Given the description of an element on the screen output the (x, y) to click on. 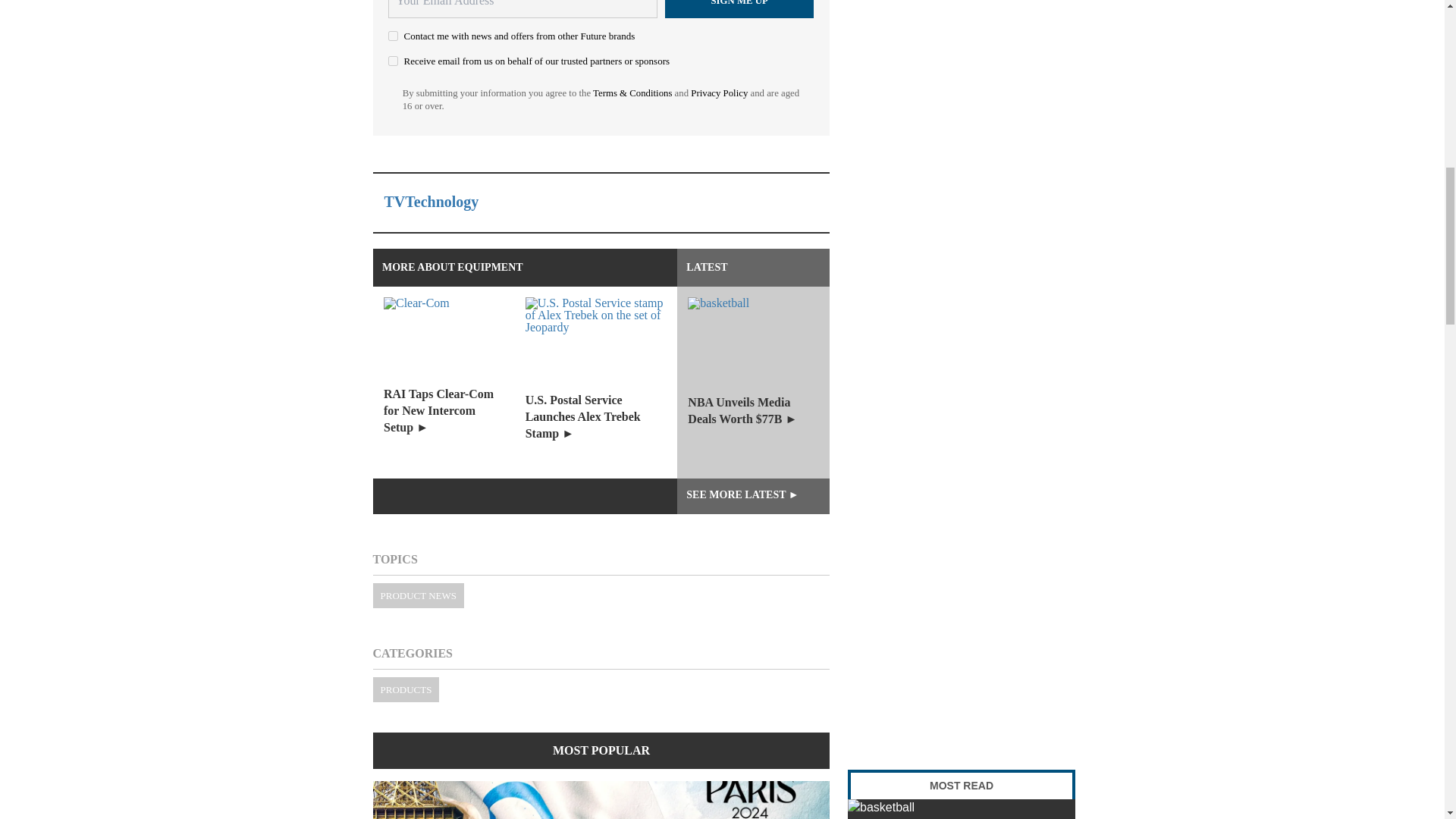
Sign me up (739, 9)
TVTechnology (431, 201)
Sign me up (739, 9)
Privacy Policy (719, 92)
PRODUCTS (405, 689)
PRODUCT NEWS (418, 595)
